Given the description of an element on the screen output the (x, y) to click on. 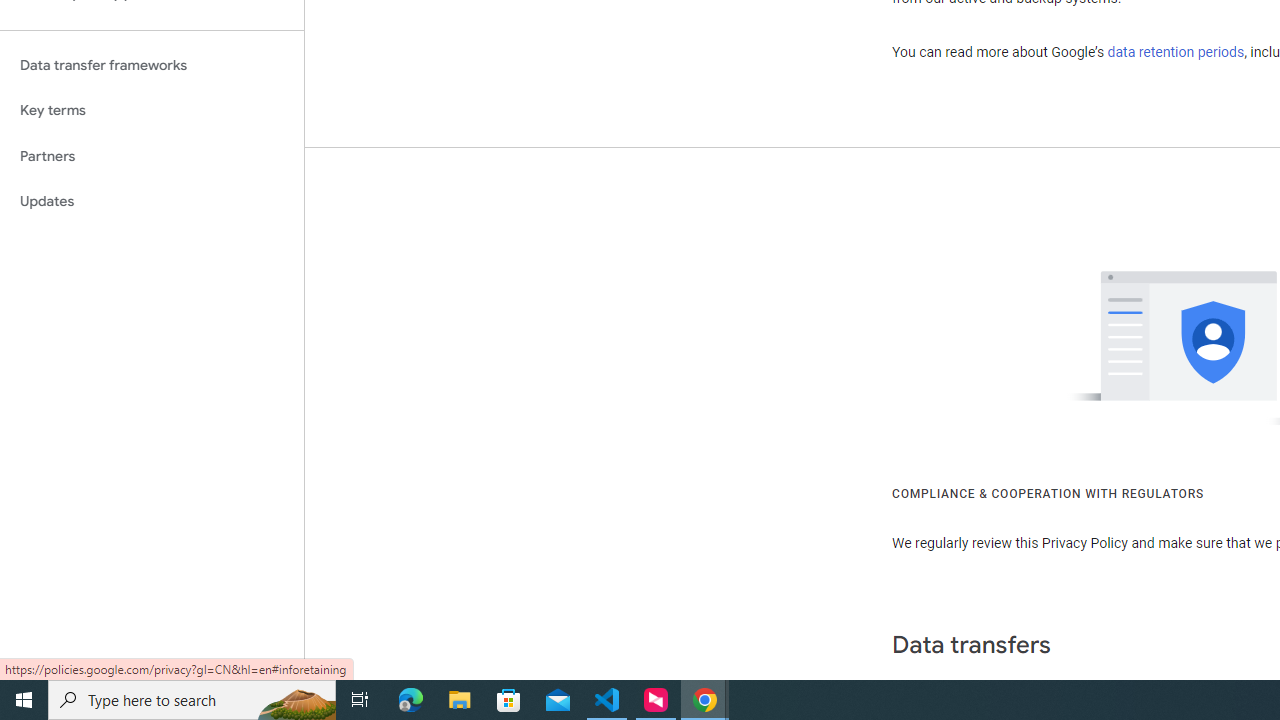
Partners (152, 156)
data retention periods (1176, 52)
Key terms (152, 110)
Data transfer frameworks (152, 65)
